Given the description of an element on the screen output the (x, y) to click on. 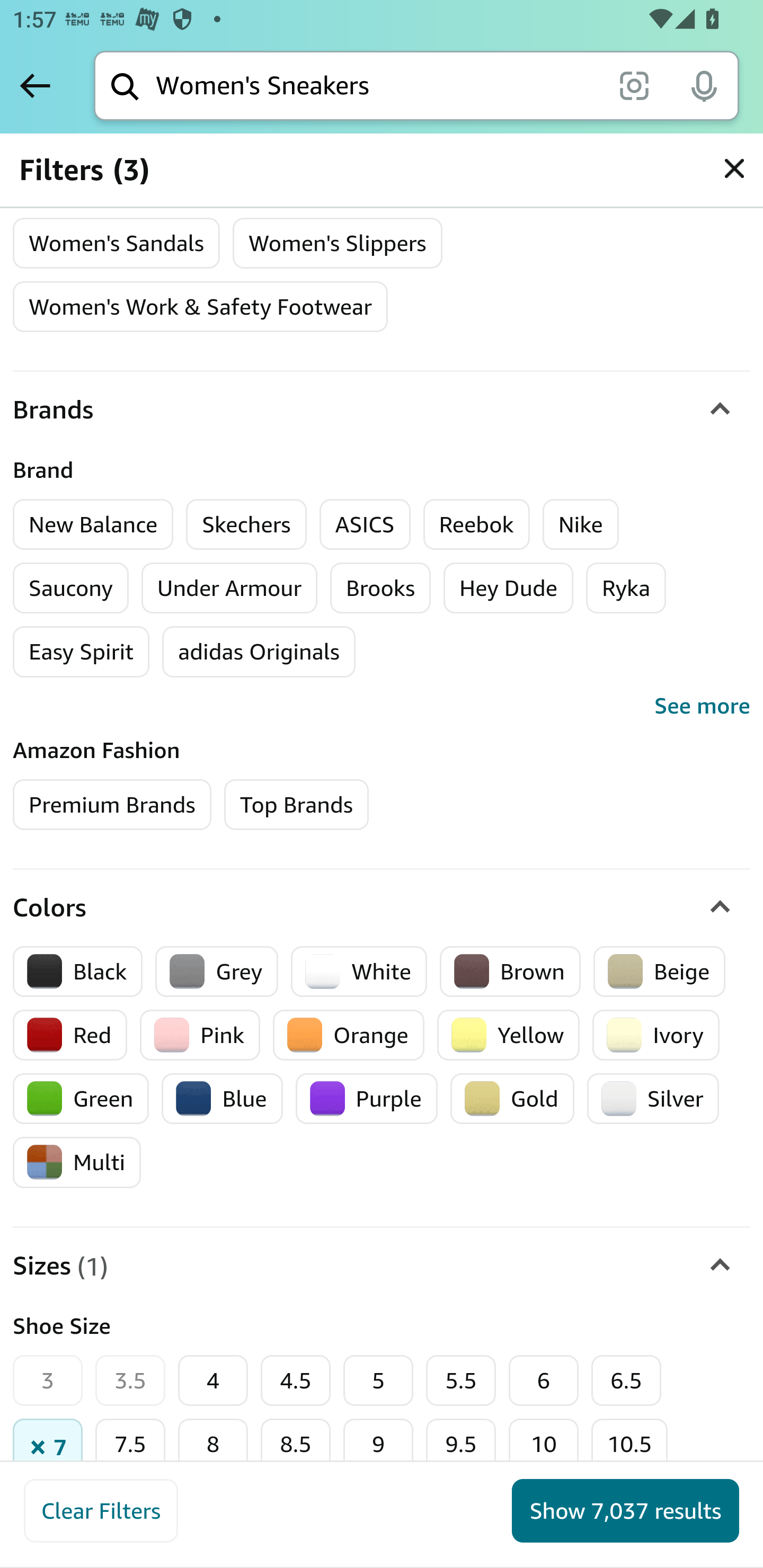
Back (35, 85)
scan it (633, 85)
Women's Outdoor Shoes (152, 178)
Women's Sandals (116, 242)
Women's Slippers (337, 242)
Women's Work & Safety Footwear (199, 306)
Brands (381, 410)
New Balance (93, 524)
Skechers (246, 524)
ASICS (365, 524)
Reebok (476, 524)
Nike (580, 524)
Saucony (70, 588)
Under Armour (228, 588)
Brooks (380, 588)
Hey Dude (508, 588)
Ryka (626, 588)
Easy Spirit (81, 651)
adidas Originals (258, 651)
See more, Brand See more (381, 705)
Premium Brands (111, 805)
Top Brands (295, 805)
Colors (381, 907)
Black Black Black Black (77, 971)
Grey Grey Grey Grey (217, 971)
White White White White (358, 971)
Brown Brown Brown Brown (509, 971)
Beige Beige Beige Beige (659, 971)
Red Red Red Red (70, 1035)
Pink Pink Pink Pink (199, 1035)
Orange Orange Orange Orange (347, 1035)
Yellow Yellow Yellow Yellow (507, 1035)
Ivory Ivory Ivory Ivory (655, 1035)
Green Green Green Green (80, 1098)
Blue Blue Blue Blue (221, 1098)
Purple Purple Purple Purple (365, 1098)
Gold Gold Gold Gold (512, 1098)
Silver Silver Silver Silver (653, 1098)
Multi Multi Multi Multi (76, 1162)
Sizes (1) (381, 1265)
4 (212, 1380)
4.5 (295, 1380)
5 (378, 1380)
5.5 (460, 1380)
6 (543, 1380)
6.5 (626, 1380)
× 7 × 7 (47, 1447)
7.5 (130, 1447)
8 (212, 1447)
+108 (281, 1429)
8.5 (295, 1447)
9 (378, 1447)
9.5 (460, 1447)
10 (543, 1447)
10.5 (630, 1447)
Clear Filters (100, 1510)
Show 7,037 results (625, 1510)
